Given the description of an element on the screen output the (x, y) to click on. 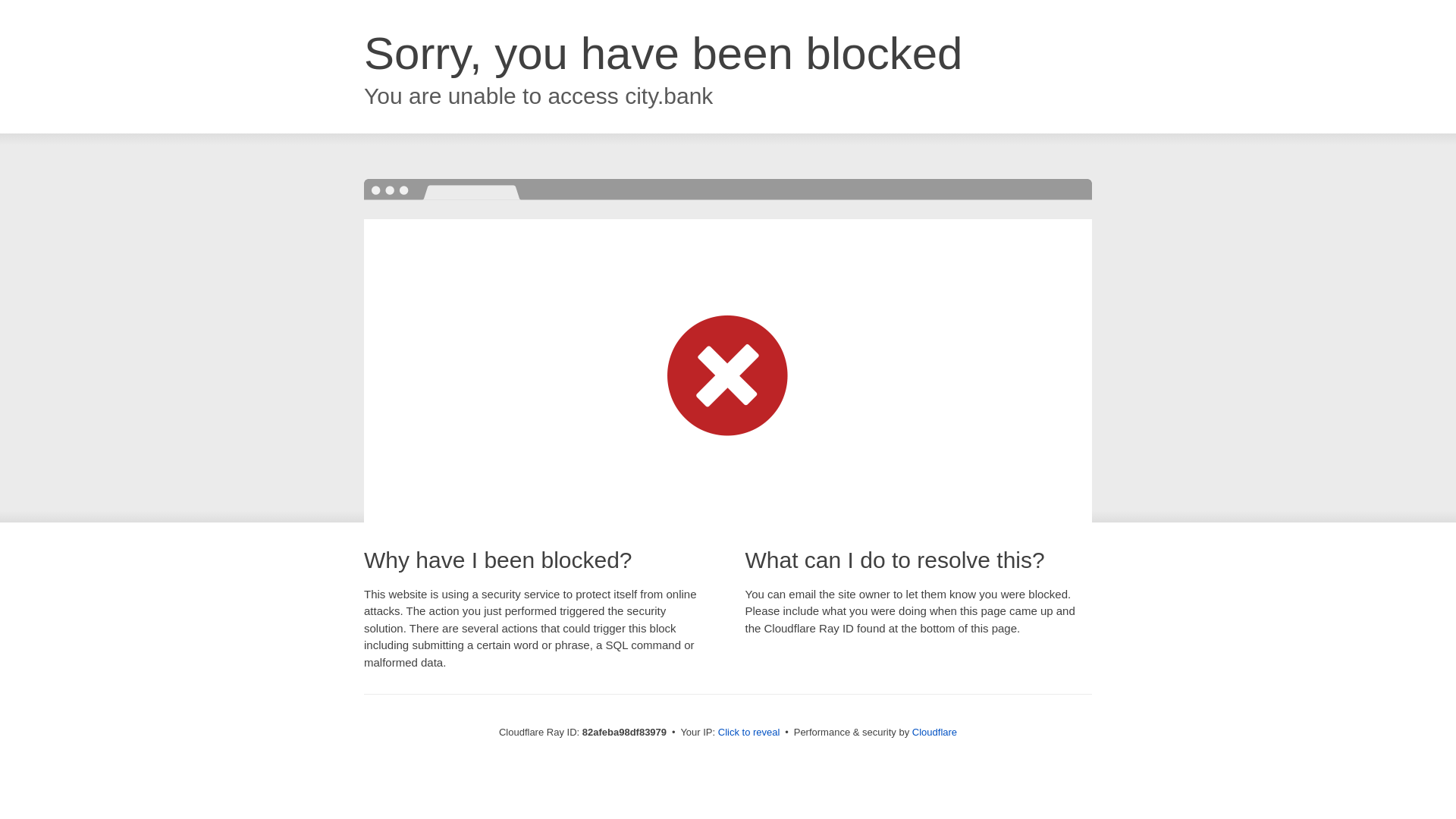
Cloudflare Element type: text (934, 731)
Click to reveal Element type: text (749, 732)
